Given the description of an element on the screen output the (x, y) to click on. 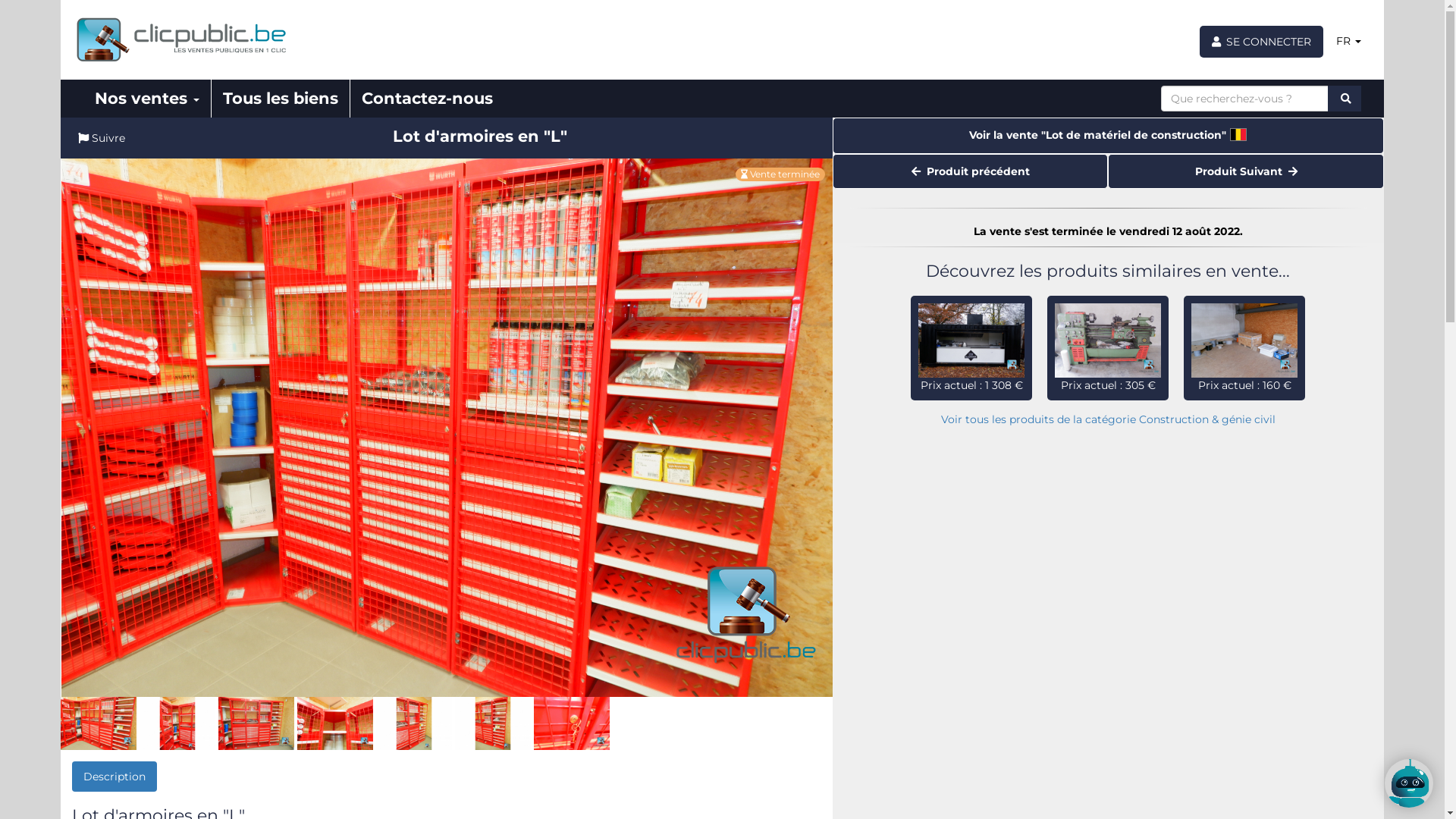
Lot d'armoires en "L" Element type: hover (256, 722)
Nos ventes Element type: text (147, 98)
Suivre Element type: text (101, 137)
Lot d'armoires en "L" Element type: hover (177, 722)
Lot d'armoires en "L" Element type: hover (571, 722)
Lot d'armoires en "L" Element type: hover (98, 722)
Description Element type: text (114, 776)
Produit Suivant   Element type: text (1245, 170)
FR Element type: text (1348, 40)
Lot d'armoires en "L" Element type: hover (413, 722)
Lot d'armoires en "L" Element type: hover (335, 722)
Tous les biens Element type: text (280, 98)
Rechercher Element type: hover (1344, 98)
Contactez-nous Element type: text (427, 98)
Lot d'armoires en "L" Element type: hover (447, 427)
  Element type: text (1344, 98)
  SE CONNECTER Element type: text (1261, 41)
Lot d'armoires en "L" Element type: hover (492, 722)
